Given the description of an element on the screen output the (x, y) to click on. 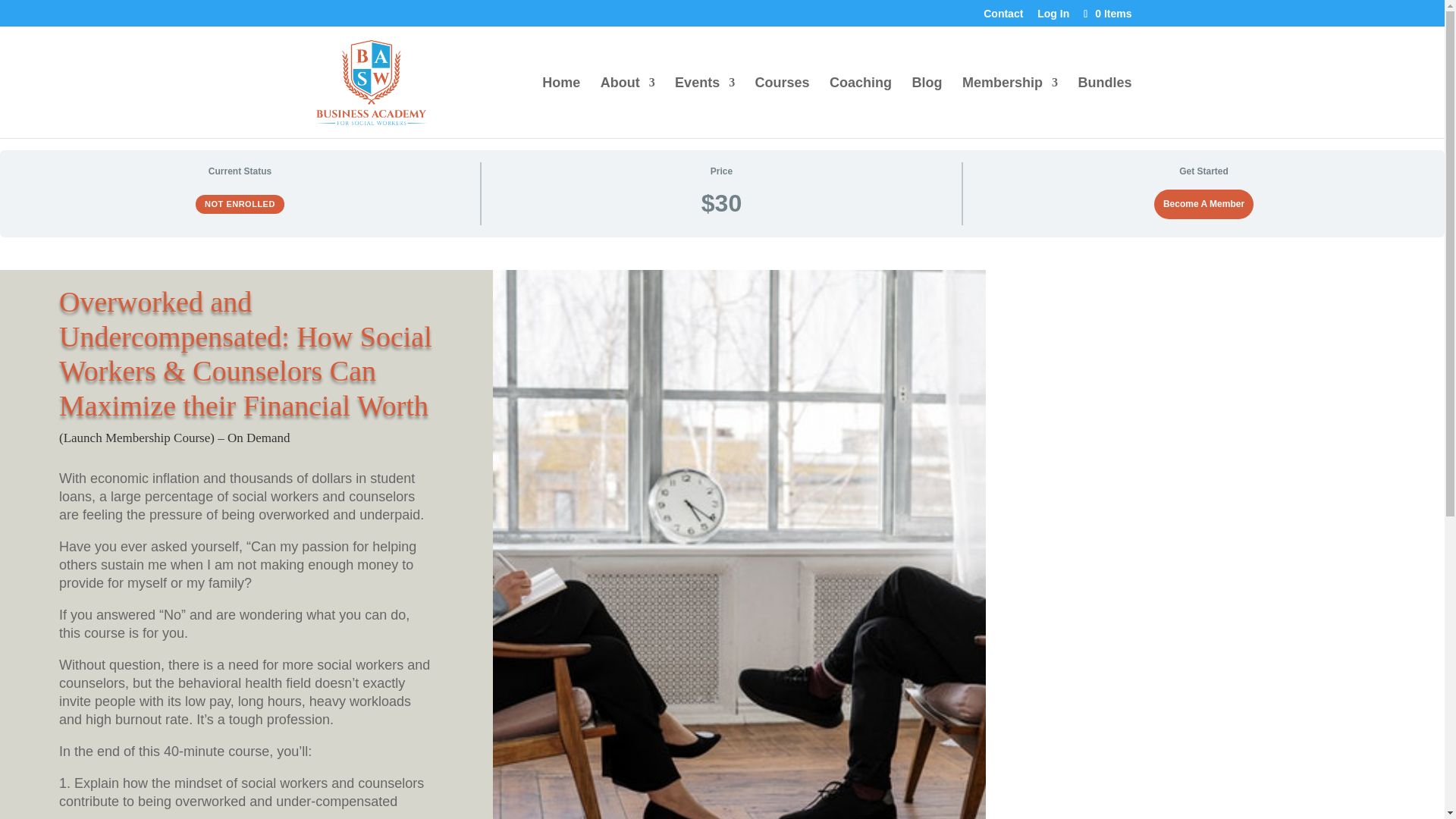
Coaching (860, 107)
Membership (1010, 107)
Log In (1052, 16)
Contact (1003, 16)
About (627, 107)
Events (705, 107)
0 Items (1105, 13)
Courses (782, 107)
